Given the description of an element on the screen output the (x, y) to click on. 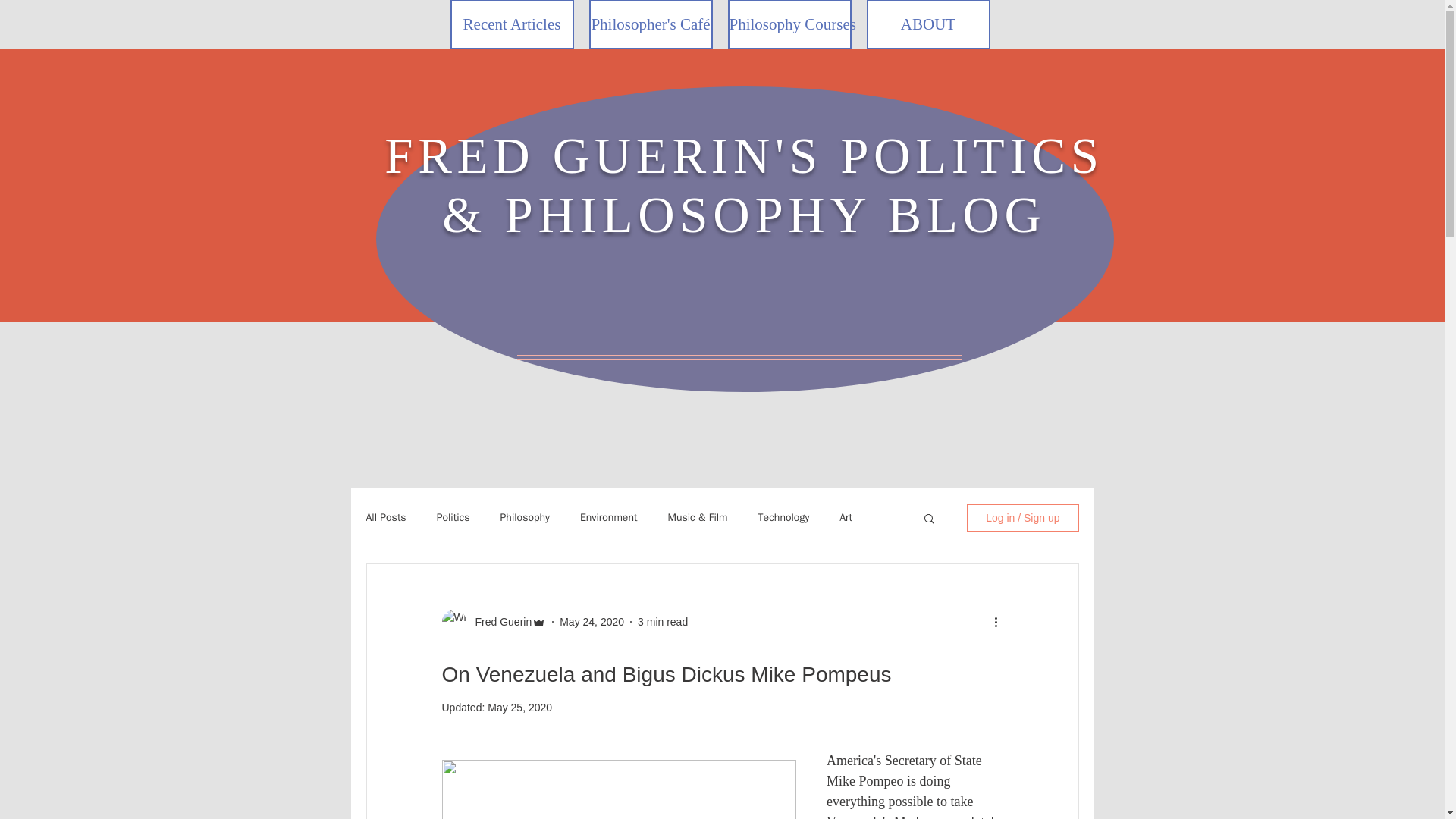
Philosophy (525, 517)
Fred Guerin (498, 621)
Philosophy Courses (789, 24)
3 min read (662, 621)
Art (845, 517)
Politics (453, 517)
May 24, 2020 (591, 621)
May 25, 2020 (519, 707)
All Posts (385, 517)
Environment (608, 517)
ABOUT (928, 24)
Recent Articles (511, 24)
Technology (783, 517)
